Given the description of an element on the screen output the (x, y) to click on. 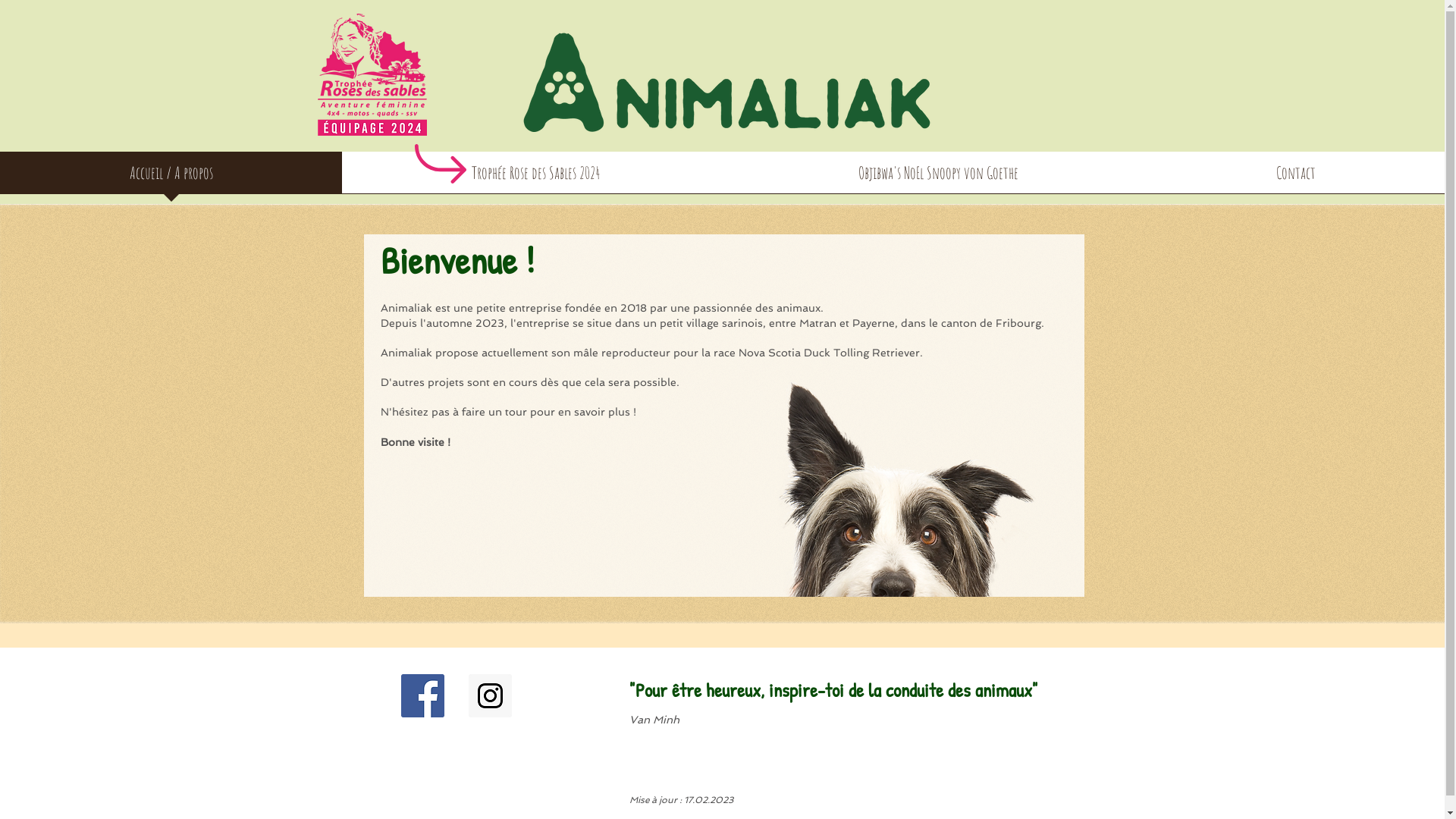
Objibwa's NoEl Snoopy von Goethe Element type: text (938, 177)
Contact Element type: text (1295, 177)
Accueil / A propos Element type: text (171, 177)
